Given the description of an element on the screen output the (x, y) to click on. 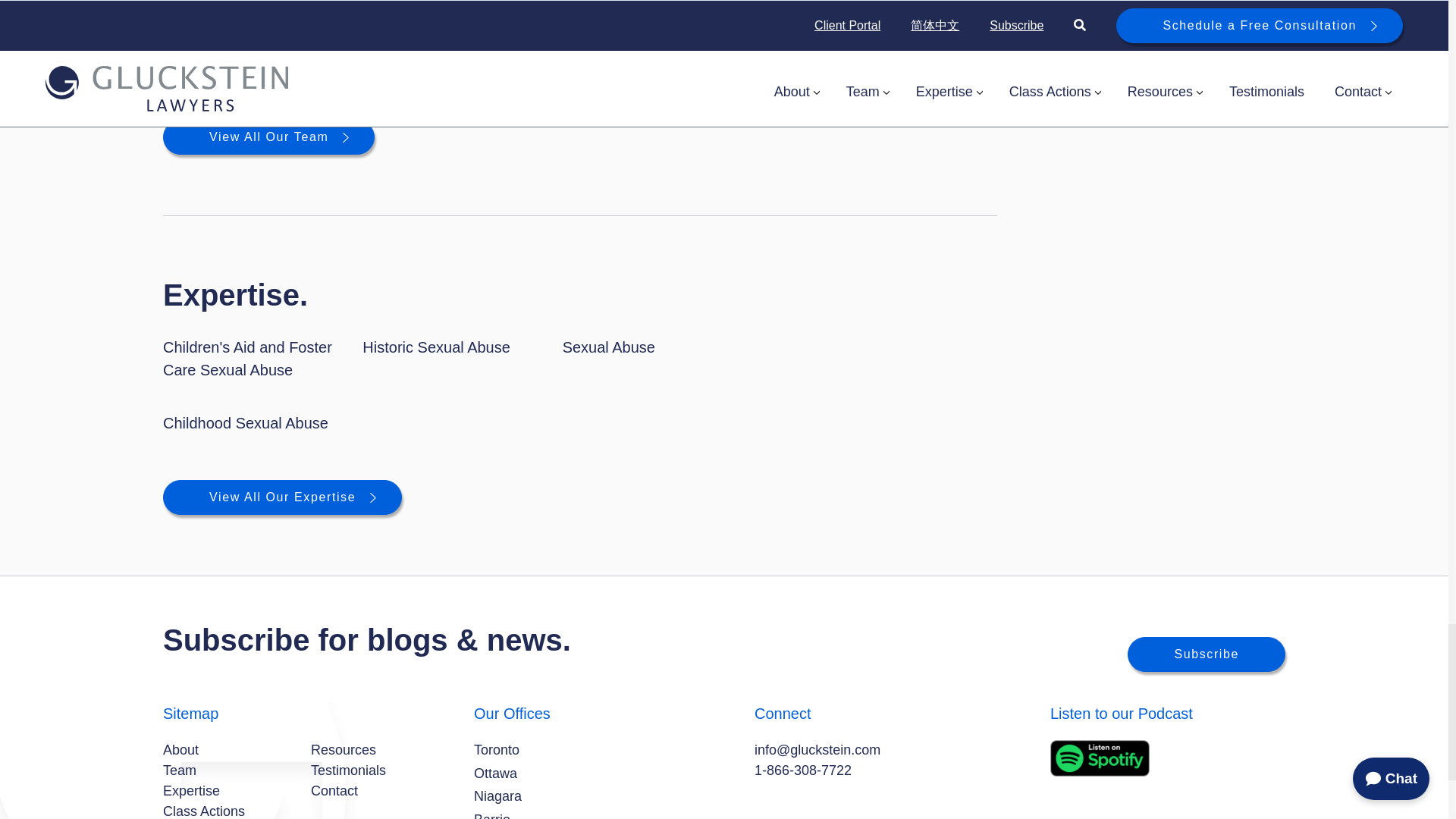
Children's Aid and Foster Care Sexual Abuse (247, 358)
Ivanna Iwasykiw (292, 39)
Barrie (492, 814)
Sexual Abuse (608, 347)
Historic Sexual Abuse (436, 347)
Ottawa (495, 773)
Childhood Sexual Abuse (246, 422)
Niagara (497, 796)
Toronto (496, 750)
